Given the description of an element on the screen output the (x, y) to click on. 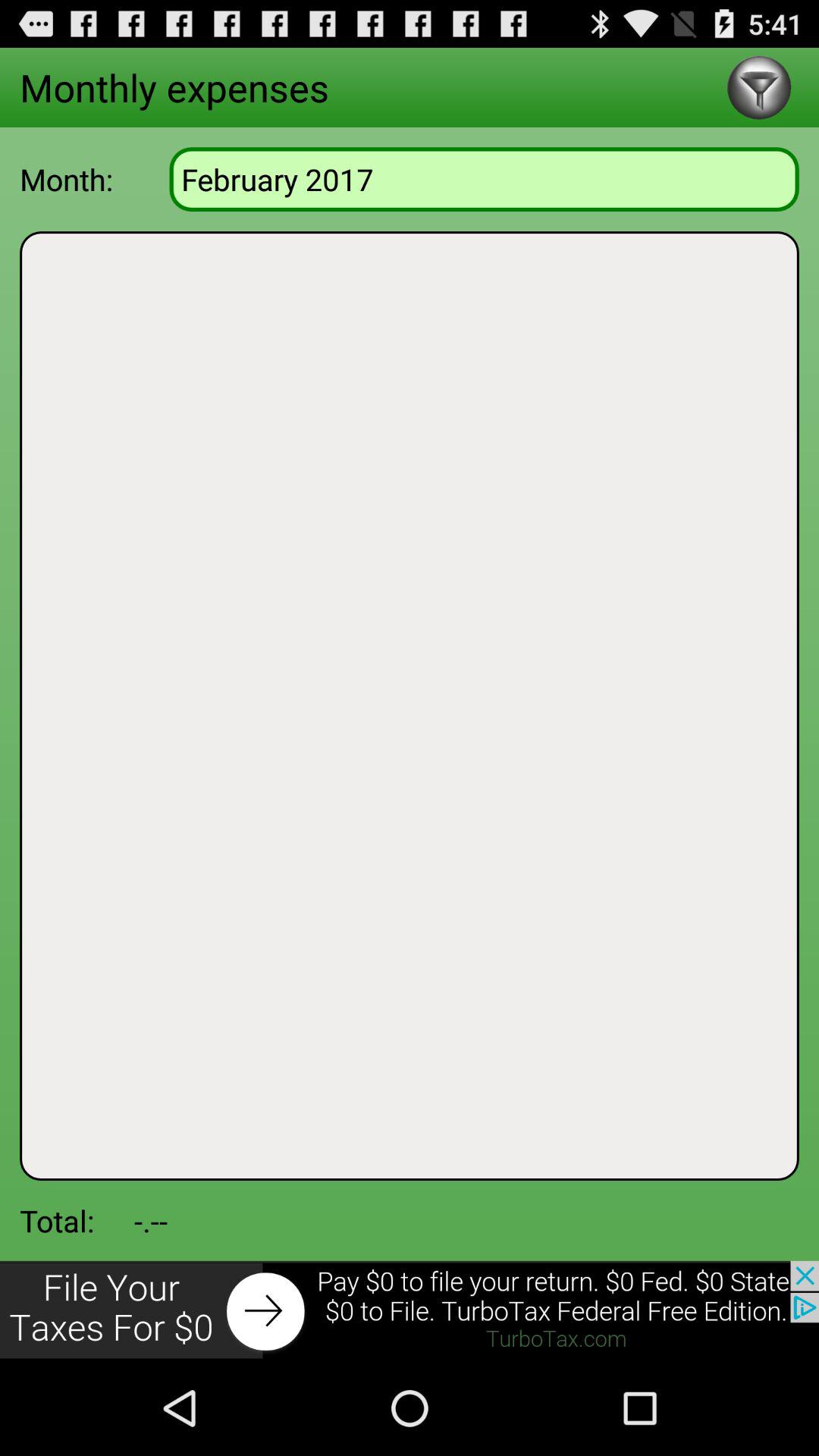
information option (759, 87)
